Given the description of an element on the screen output the (x, y) to click on. 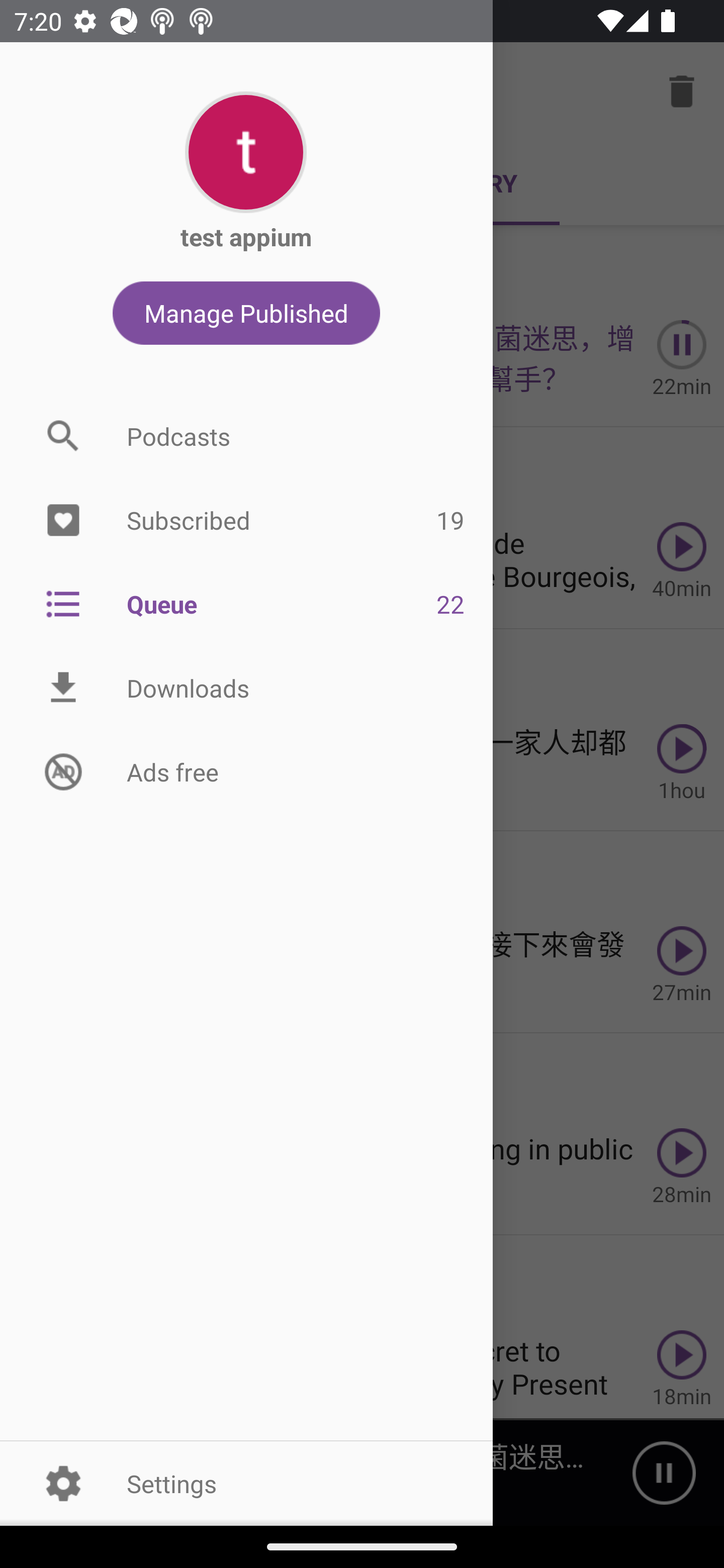
Manage Published (246, 312)
Picture Podcasts (246, 435)
Picture Subscribed 19 (246, 520)
Picture Queue 22 (246, 603)
Picture Downloads (246, 688)
Picture Ads free (246, 771)
Settings Picture Settings (246, 1482)
